Given the description of an element on the screen output the (x, y) to click on. 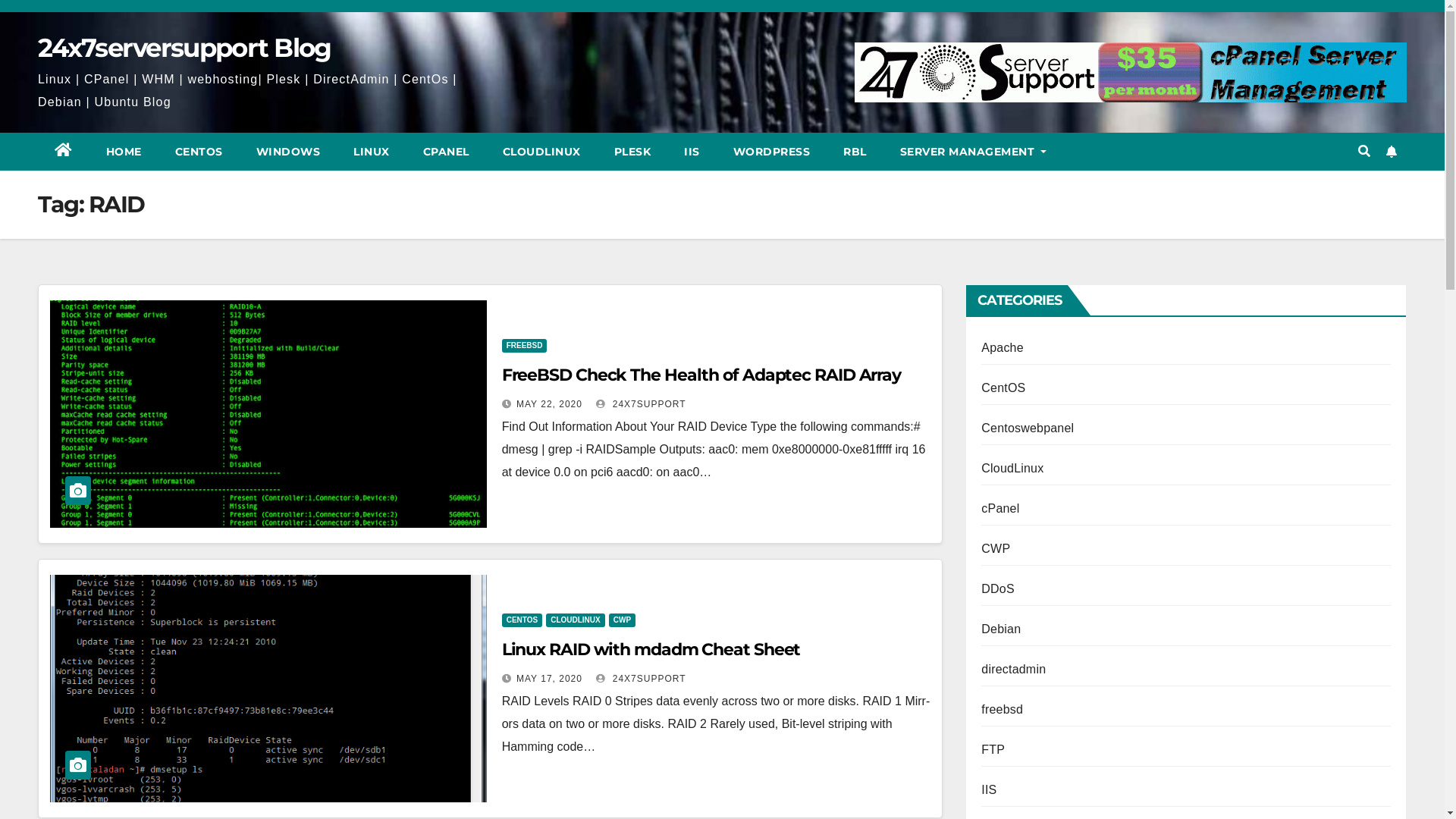
CENTOS Element type: text (197, 151)
24X7SUPPORT Element type: text (640, 678)
CENTOS Element type: text (522, 620)
Linux RAID with mdadm Cheat Sheet Element type: text (651, 649)
WINDOWS Element type: text (288, 151)
CLOUDLINUX Element type: text (575, 620)
CPANEL Element type: text (446, 151)
24X7SUPPORT Element type: text (640, 403)
Centoswebpanel Element type: text (1027, 427)
freebsd Element type: text (1001, 708)
Debian Element type: text (1000, 628)
IIS Element type: text (988, 789)
cPanel Element type: text (1000, 508)
directadmin Element type: text (1013, 668)
CloudLinux Element type: text (1012, 467)
IIS Element type: text (691, 151)
PLESK Element type: text (632, 151)
MAY 17, 2020 Element type: text (549, 678)
HOME Element type: text (123, 151)
MAY 22, 2020 Element type: text (549, 403)
FREEBSD Element type: text (524, 345)
FreeBSD Check The Health of Adaptec RAID Array Element type: text (701, 374)
LINUX Element type: text (371, 151)
FTP Element type: text (992, 749)
24x7serversupport Blog Element type: text (184, 47)
Apache Element type: text (1001, 347)
CentOS Element type: text (1003, 387)
CWP Element type: text (621, 620)
CLOUDLINUX Element type: text (540, 151)
DDoS Element type: text (997, 588)
RBL Element type: text (854, 151)
CWP Element type: text (995, 548)
WORDPRESS Element type: text (770, 151)
SERVER MANAGEMENT Element type: text (966, 151)
